Given the description of an element on the screen output the (x, y) to click on. 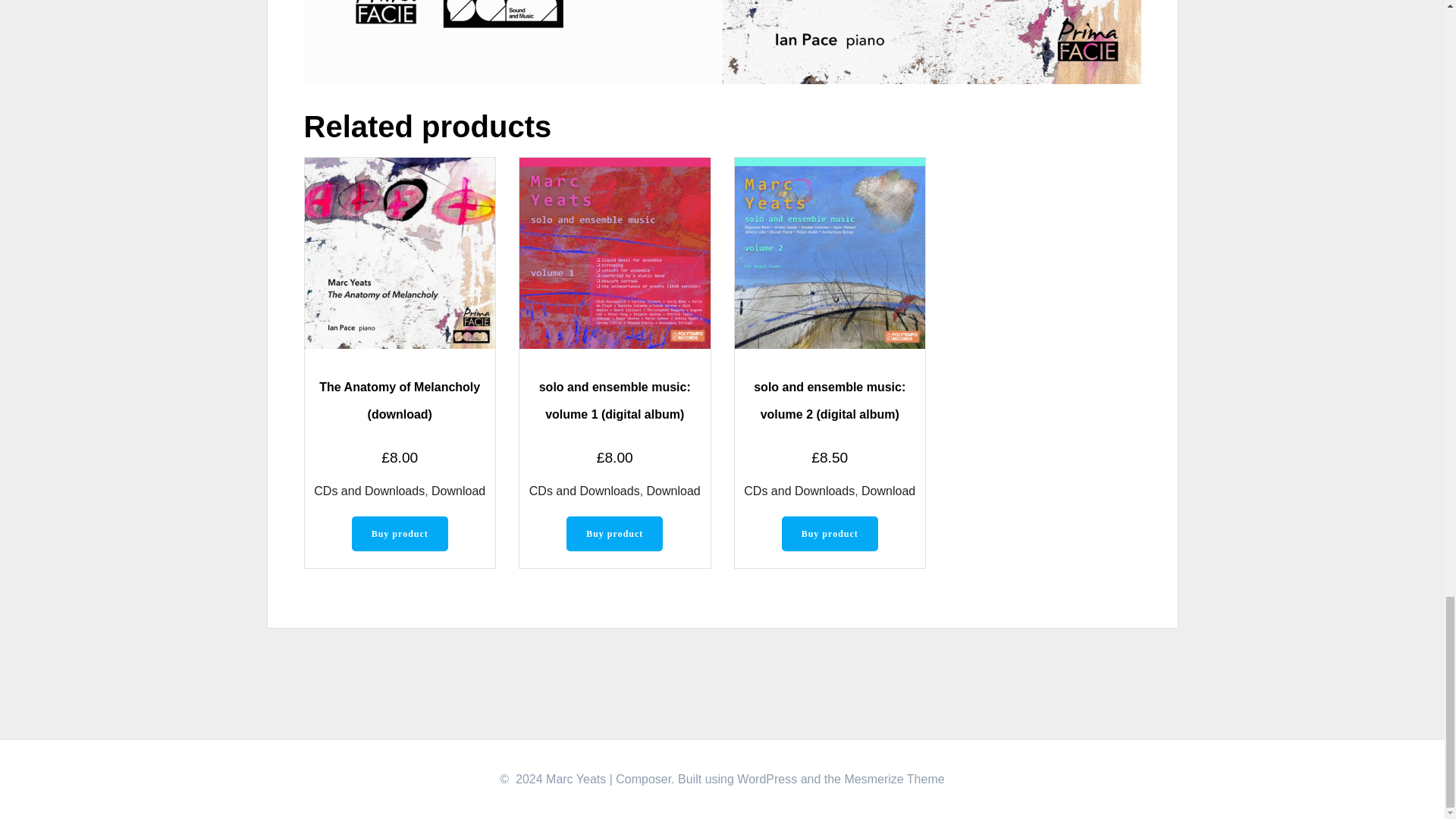
Download (673, 490)
CDs and Downloads (584, 490)
Buy product (400, 533)
CDs and Downloads (369, 490)
Download (457, 490)
